Given the description of an element on the screen output the (x, y) to click on. 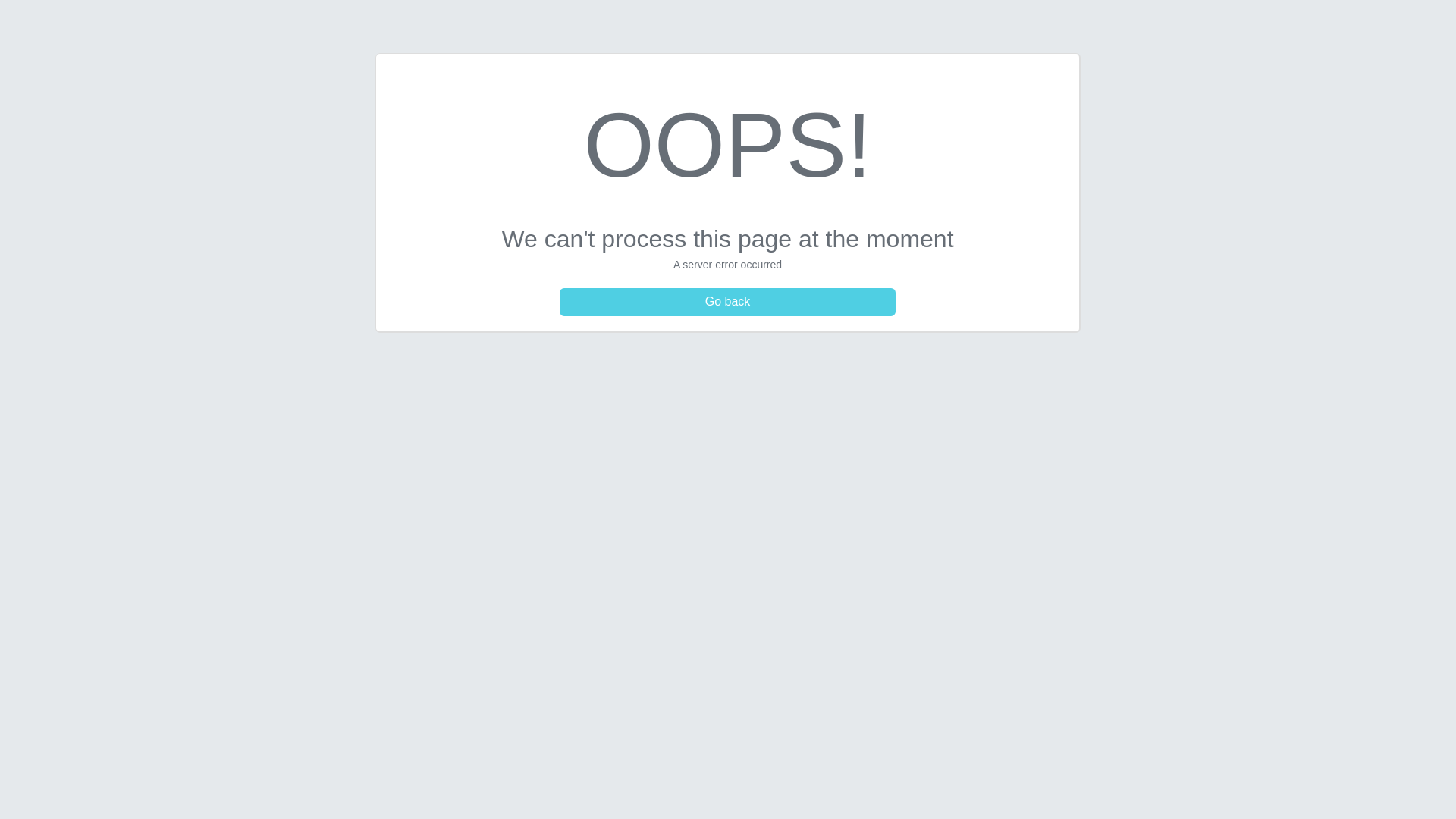
Go back Element type: text (727, 302)
